Given the description of an element on the screen output the (x, y) to click on. 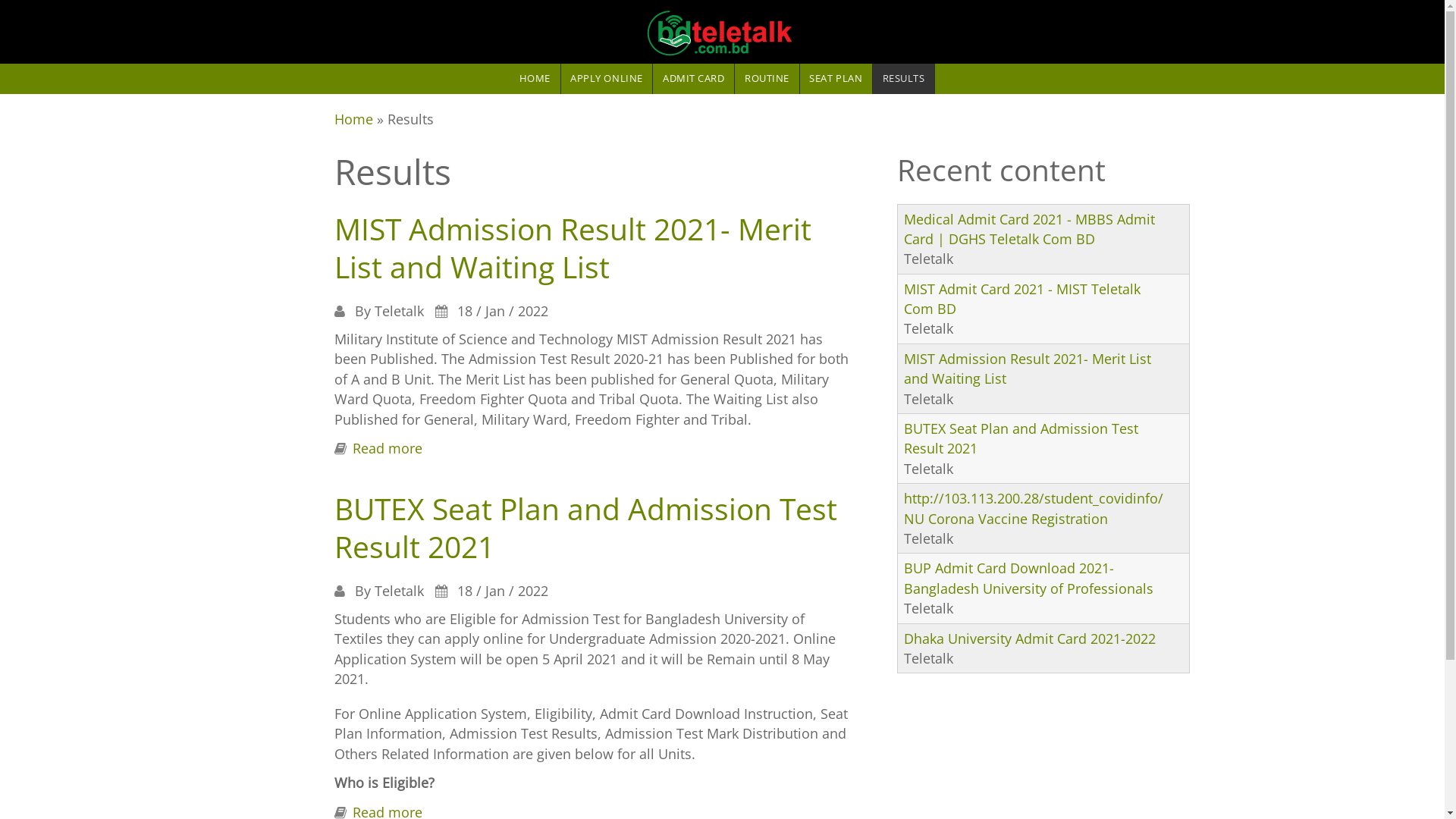
ROUTINE Element type: text (766, 78)
Home Element type: text (352, 118)
MIST Admission Result 2021- Merit List and Waiting List Element type: text (1027, 368)
MIST Admission Result 2021- Merit List and Waiting List Element type: text (571, 247)
ADMIT CARD Element type: text (693, 78)
SEAT PLAN Element type: text (836, 78)
BUTEX Seat Plan and Admission Test Result 2021 Element type: text (1020, 438)
MIST Admit Card 2021 - MIST Teletalk Com BD Element type: text (1021, 298)
RESULTS Element type: text (903, 78)
Skip to main content Element type: text (65, 0)
APPLY ONLINE Element type: text (606, 78)
BUTEX Seat Plan and Admission Test Result 2021 Element type: text (584, 527)
Dhaka University Admit Card 2021-2022 Element type: text (1029, 638)
HOME Element type: text (534, 78)
